Given the description of an element on the screen output the (x, y) to click on. 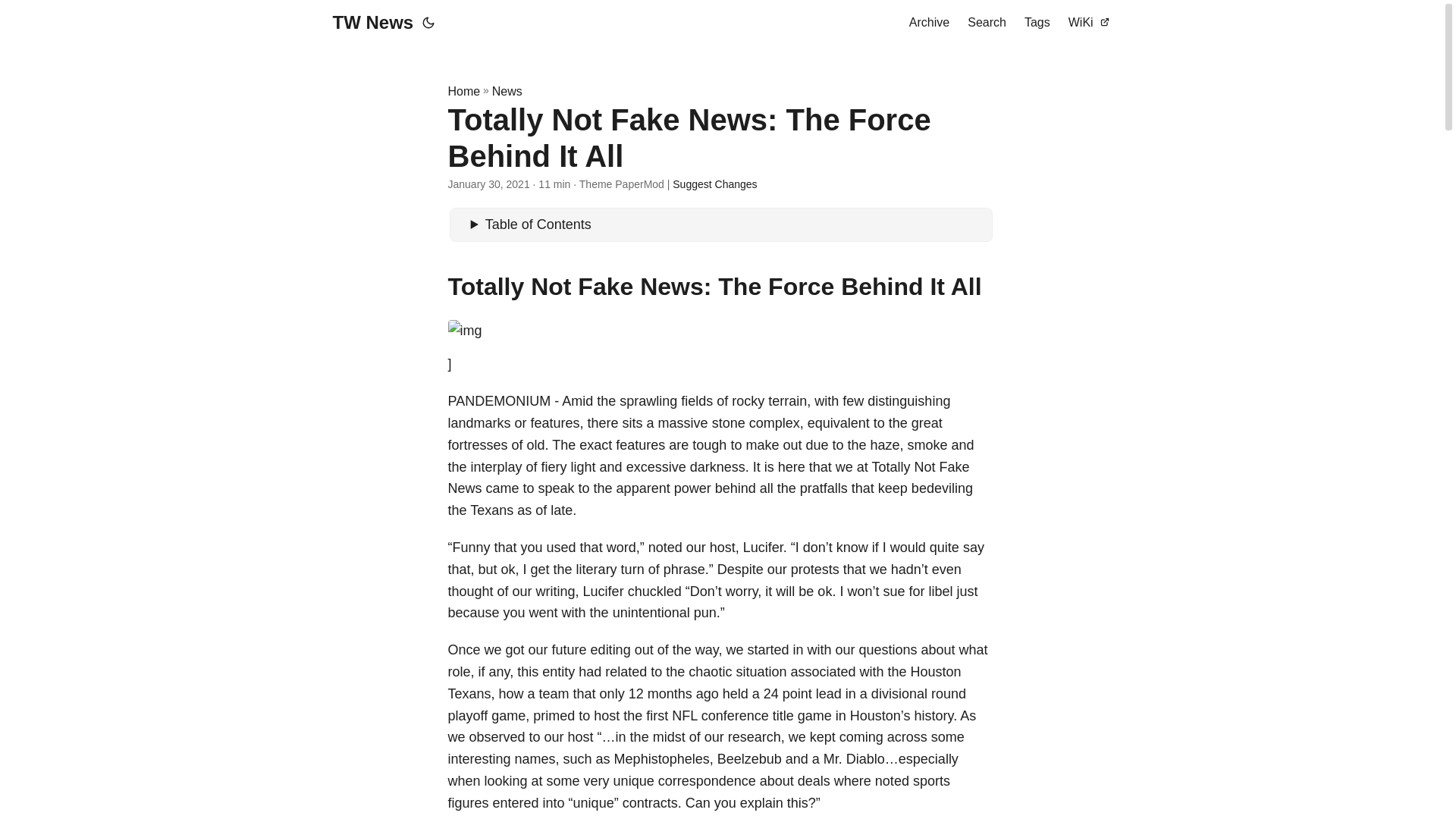
Home (463, 91)
TW News (372, 22)
Suggest Changes (714, 184)
Search (987, 22)
Tags (1037, 22)
Archive (928, 22)
Archive (928, 22)
News (507, 91)
WiKi  (1088, 22)
WiKi (1088, 22)
Tags (1037, 22)
